Given the description of an element on the screen output the (x, y) to click on. 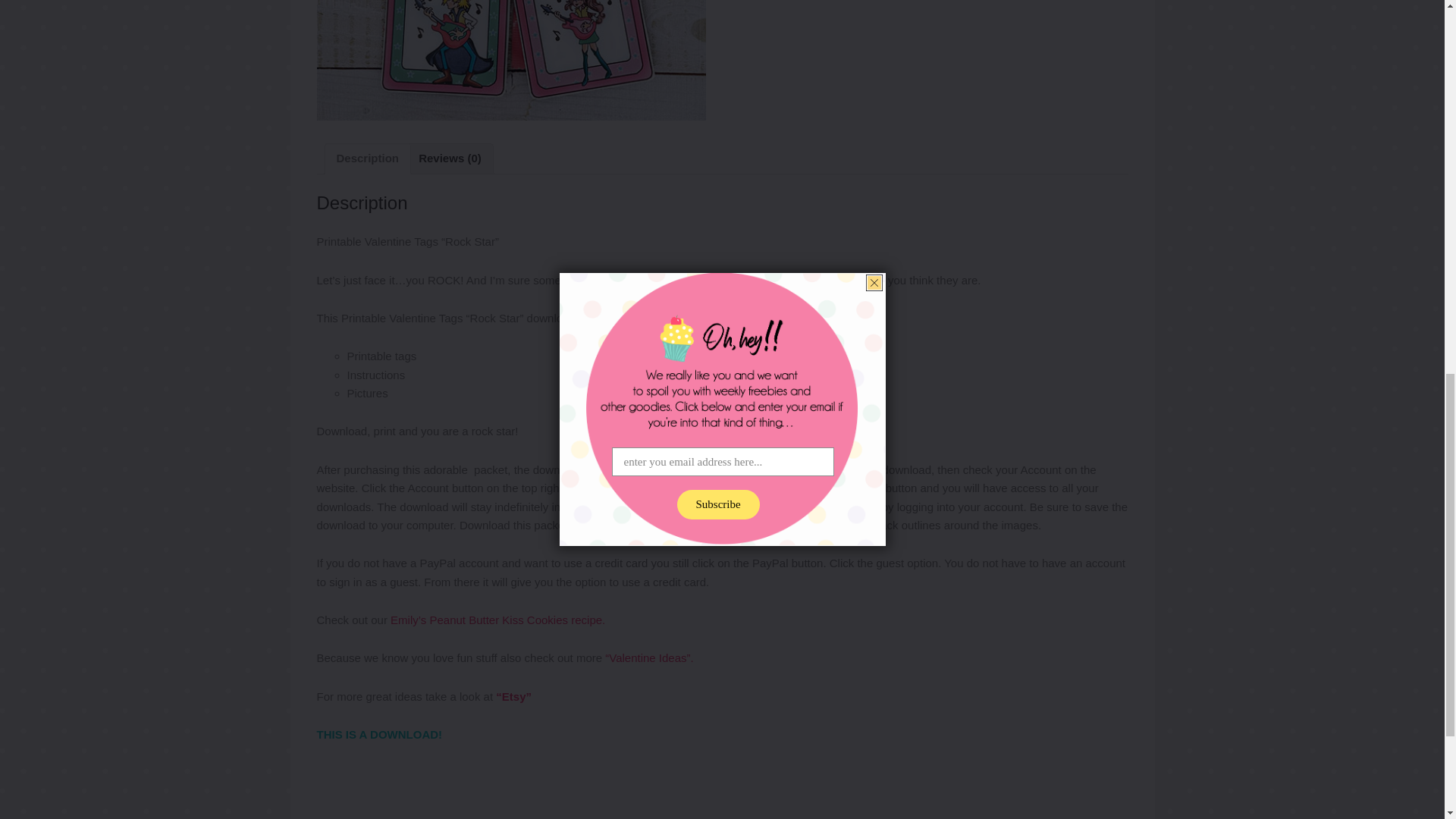
Printable Valentine Tags "Rock Star" (511, 60)
